Given the description of an element on the screen output the (x, y) to click on. 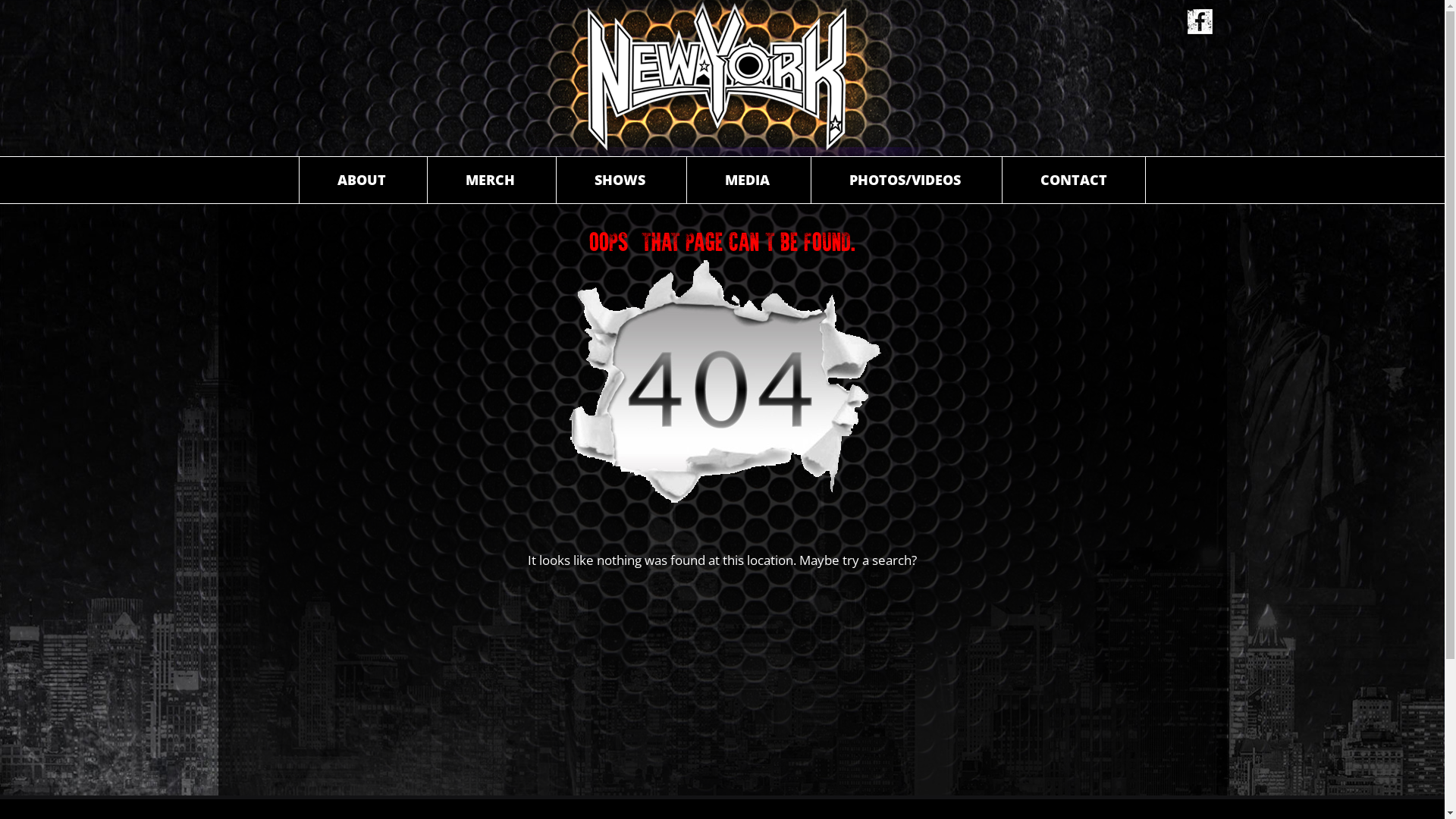
PHOTOS/VIDEOS Element type: text (904, 179)
ABOUT Element type: text (361, 179)
MERCH Element type: text (489, 179)
CONTACT Element type: text (1073, 179)
SHOWS Element type: text (619, 179)
MEDIA Element type: text (747, 179)
